Given the description of an element on the screen output the (x, y) to click on. 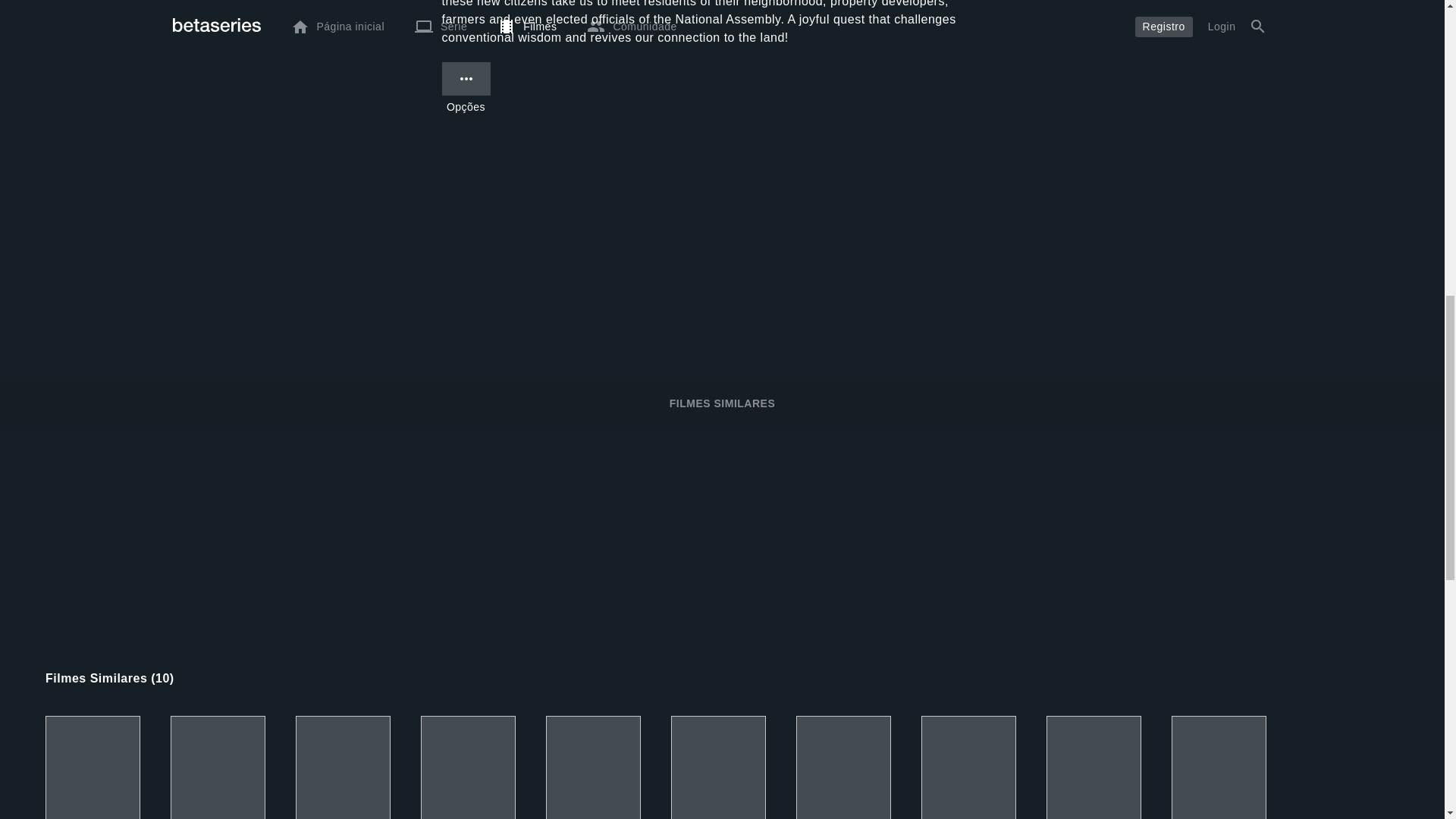
FILMES SIMILARES (721, 403)
Droit dans les yeux (843, 767)
L'Horizon (718, 767)
